Given the description of an element on the screen output the (x, y) to click on. 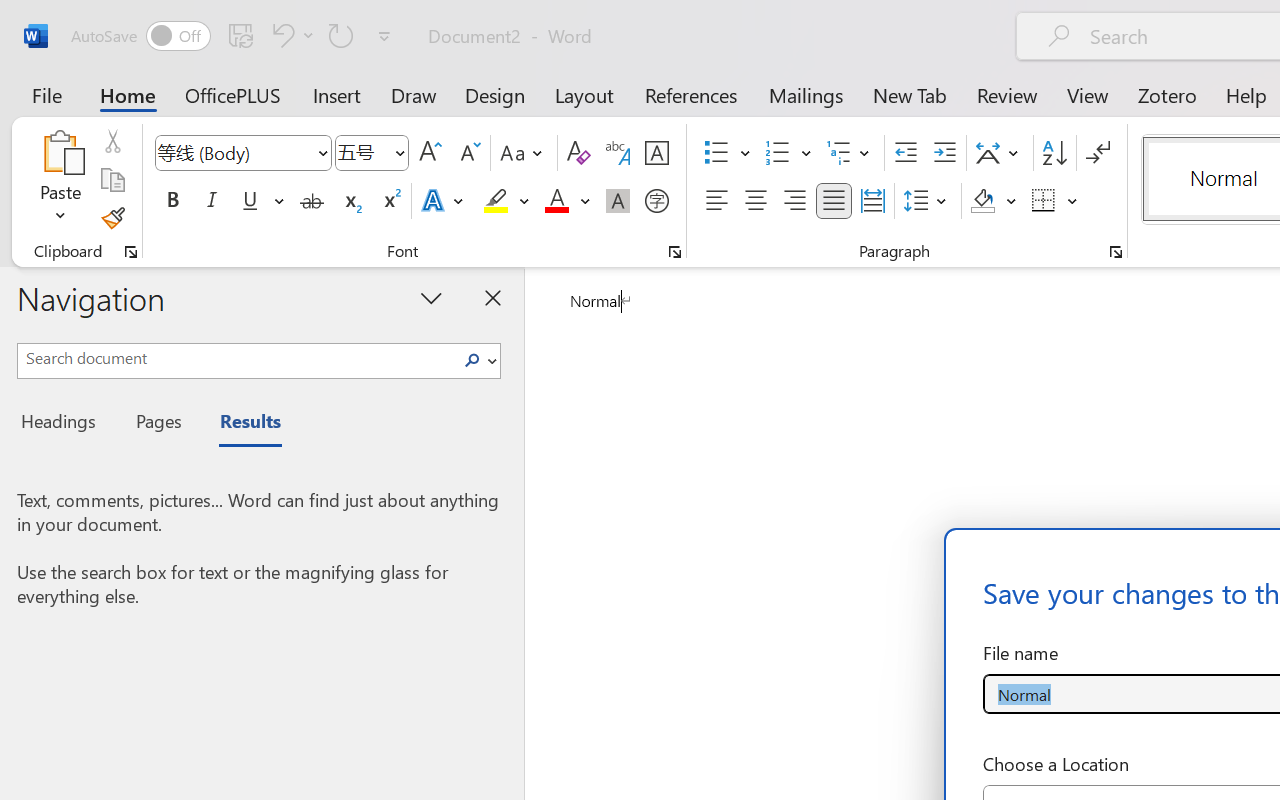
Pages (156, 424)
Open (399, 152)
Undo Apply Quick Style (280, 35)
Asian Layout (1000, 153)
Shading RGB(0, 0, 0) (982, 201)
Format Painter (112, 218)
Enclose Characters... (656, 201)
Home (127, 94)
Clear Formatting (578, 153)
Paragraph... (1115, 252)
Decrease Indent (906, 153)
Show/Hide Editing Marks (1098, 153)
File Tab (46, 94)
Search (471, 360)
